Given the description of an element on the screen output the (x, y) to click on. 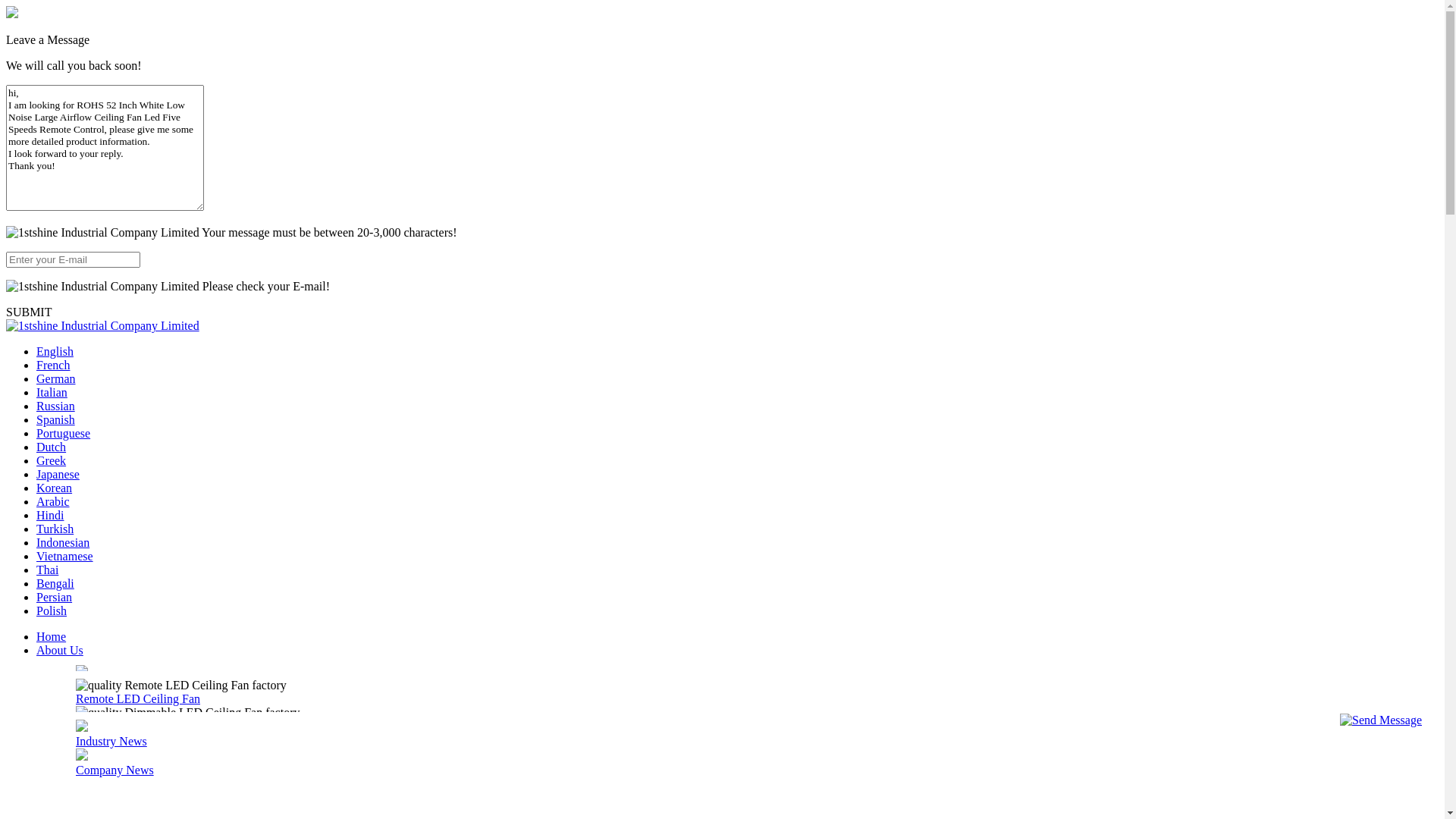
VR Show Element type: text (60, 690)
Italian Element type: text (51, 78)
Home Element type: text (50, 322)
1stshine Industrial Company Limited Virtual Reality View Element type: hover (39, 564)
Indonesian Element type: text (62, 228)
Arabic Element type: text (52, 188)
Portuguese Element type: text (63, 119)
News Element type: text (49, 704)
Factory Tour Element type: text (106, 401)
Bladeless LED Ceiling Fan Element type: text (142, 521)
Videos Element type: text (52, 677)
Dutch Element type: text (50, 133)
Japanese Element type: text (57, 160)
Thai Element type: text (47, 256)
Dimmable LED Ceiling Fan Element type: text (144, 412)
Korean Element type: text (54, 174)
Color Changing Ceiling Fan Element type: text (144, 439)
Modern LED Ceiling Fan Element type: text (137, 548)
quality Remote LED Ceiling Fan factory Element type: hover (737, 772)
Quality Control Element type: text (113, 430)
Classic Ceiling Fans Element type: text (125, 603)
French Element type: text (52, 51)
Spanish Element type: text (55, 106)
Bengali Element type: text (55, 269)
quality Remote LED Ceiling Fan factory Element type: hover (737, 786)
Vietnamese Element type: text (64, 242)
German Element type: text (55, 65)
About Us Element type: text (59, 336)
Plastic Ceiling Fan Element type: text (121, 576)
Company News Element type: text (114, 769)
Persian Element type: text (54, 283)
Industry News Element type: text (111, 740)
Russian Element type: text (55, 92)
Decorative Ceiling Fan Element type: text (131, 630)
Greek Element type: text (50, 147)
English Element type: text (54, 37)
Metal Blade Ceiling Fan Element type: text (135, 658)
Turkish Element type: text (54, 215)
Contact Element type: text (55, 718)
Search Element type: text (165, 745)
Solid Wood Ceiling Fan Element type: text (133, 467)
Products Element type: text (57, 350)
Hindi Element type: text (49, 201)
Remote LED Ceiling Fan Element type: text (137, 385)
Company Profile Element type: text (117, 373)
Retractable Ceiling Fan Light Element type: text (147, 494)
Polish Element type: text (51, 297)
